Given the description of an element on the screen output the (x, y) to click on. 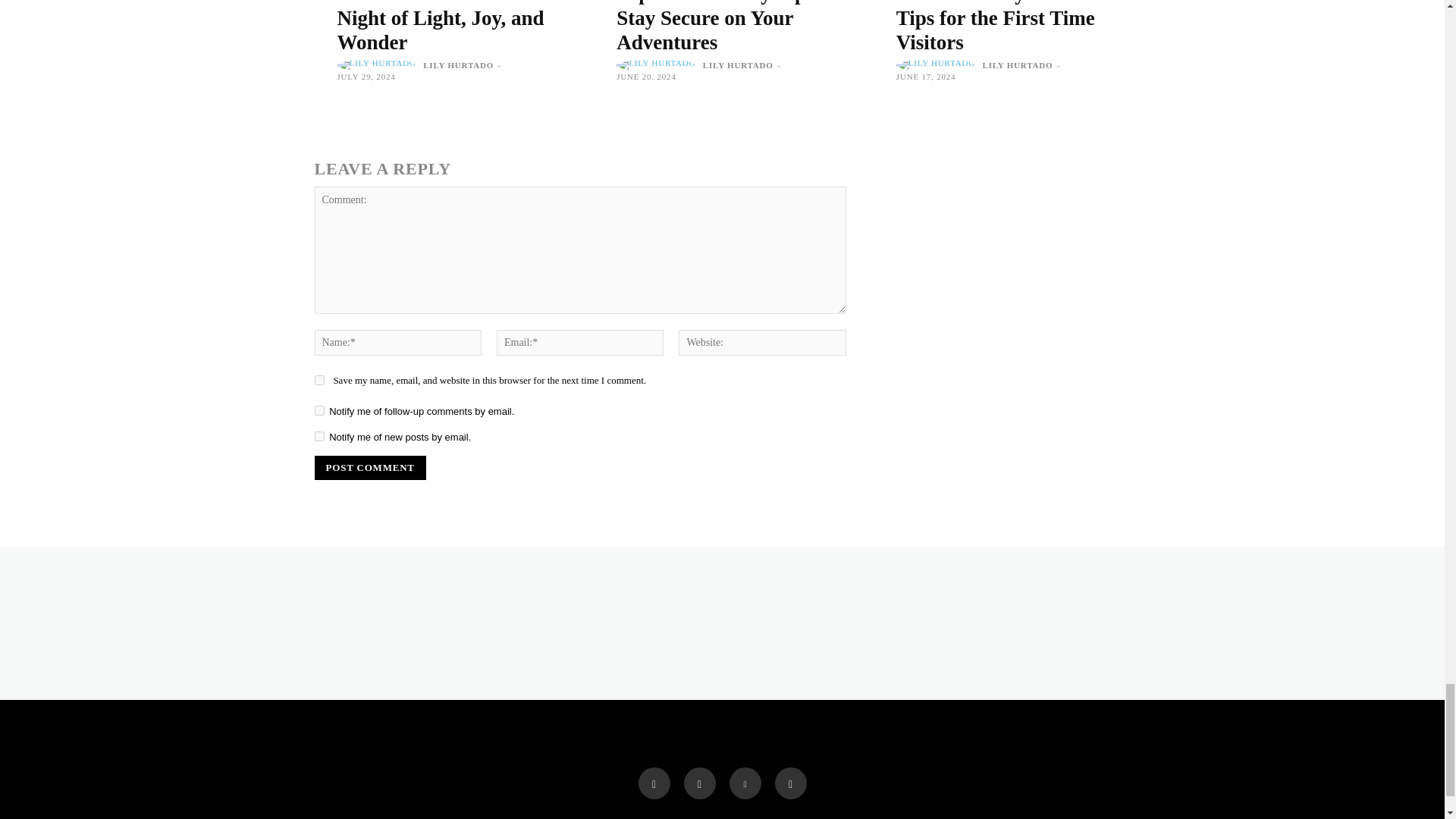
subscribe (318, 410)
yes (318, 379)
subscribe (318, 436)
Post Comment (369, 467)
